Given the description of an element on the screen output the (x, y) to click on. 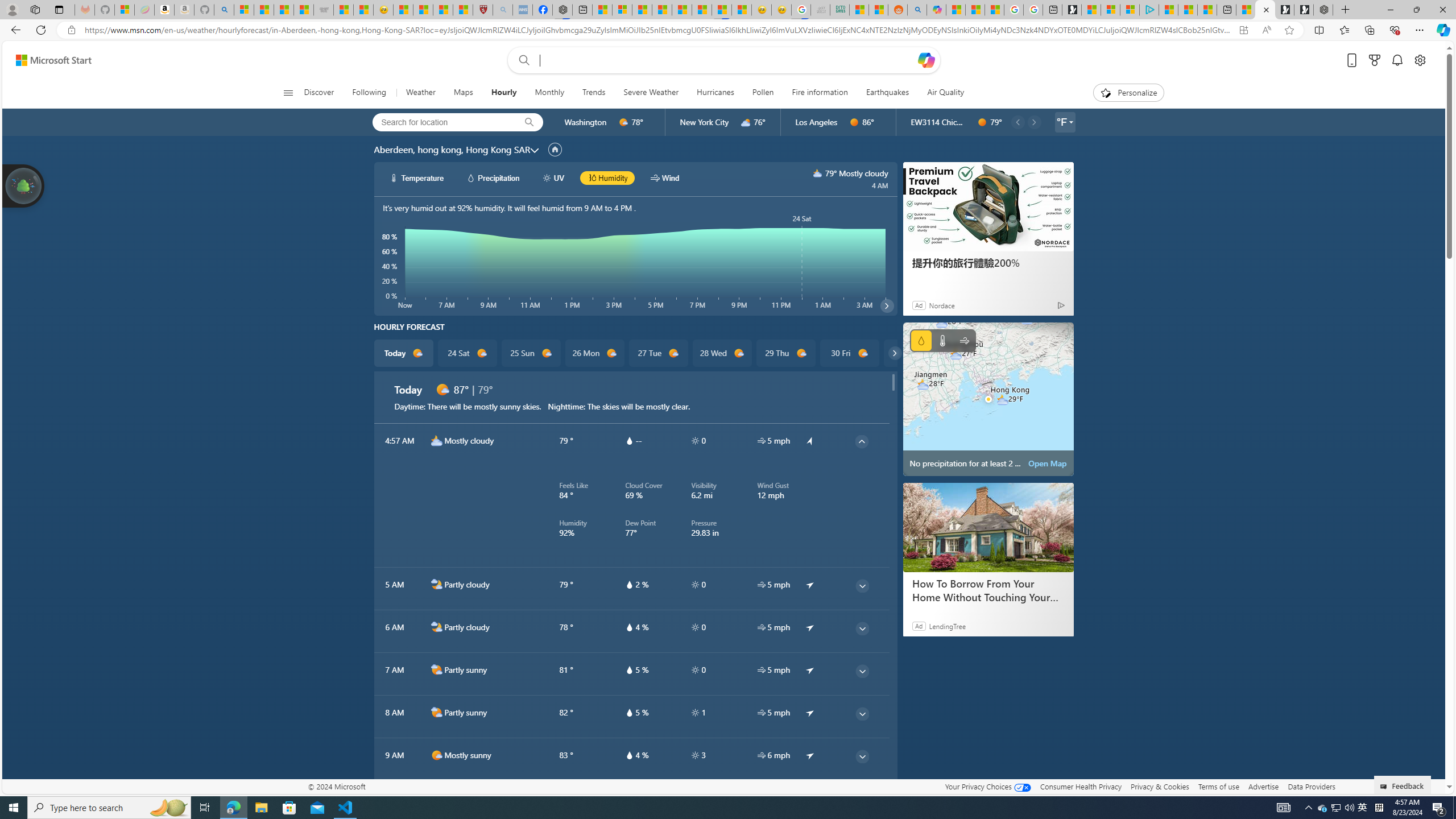
locationBar/search (529, 121)
hourlyChart/precipitationWhite (470, 177)
hourlyChart/humidityBlack (591, 177)
static map image of vector map (988, 398)
30 Fri d1000 (849, 352)
29 Thu d1000 (785, 352)
Monthly (549, 92)
Earthquakes (888, 92)
Maps (462, 92)
d0000 (981, 121)
